Given the description of an element on the screen output the (x, y) to click on. 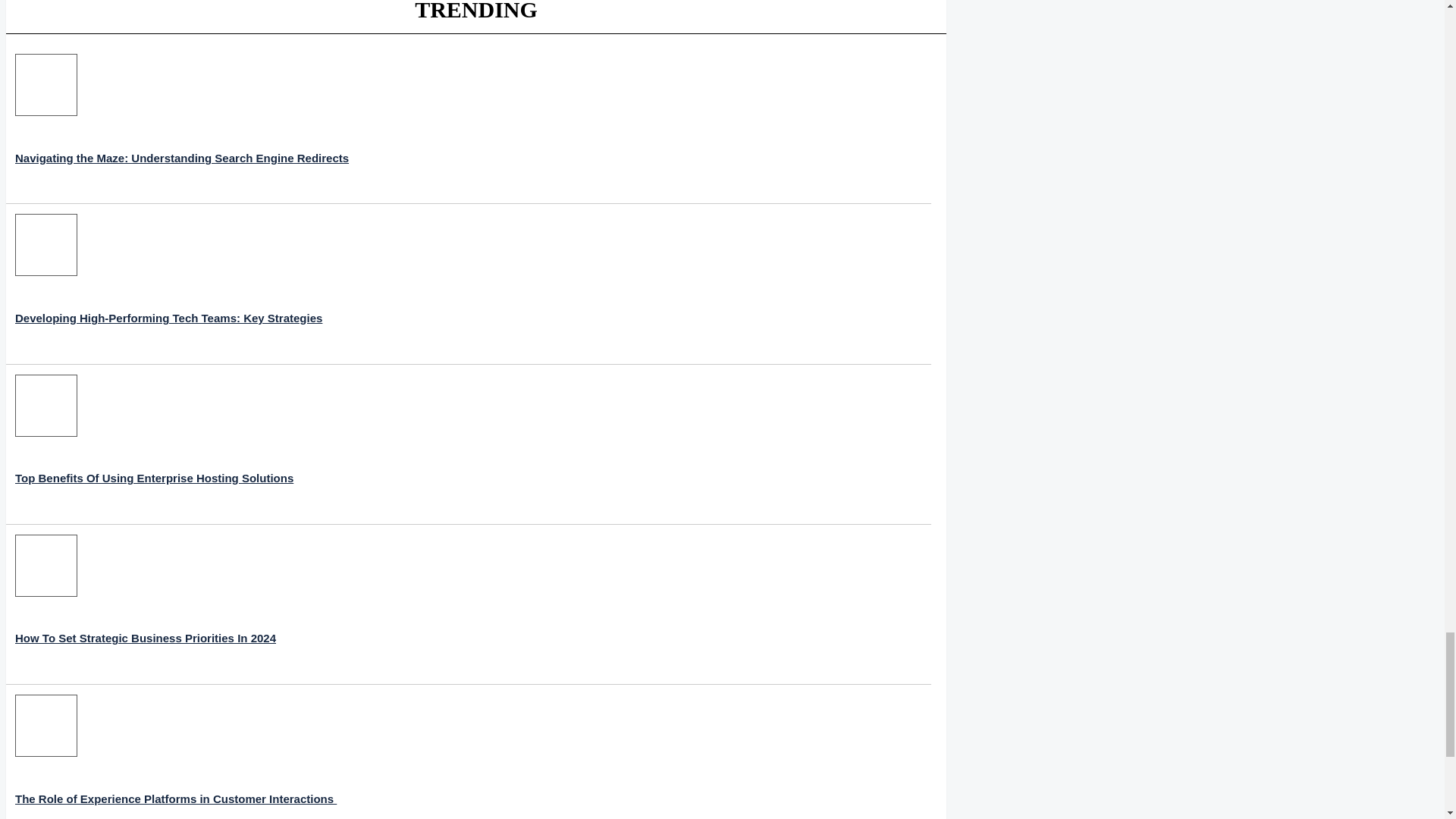
How To Set Strategic Business Priorities In 2024 (145, 604)
Developing High-Performing Tech Teams: Key Strategies (167, 283)
Top Benefits Of Using Enterprise Hosting Solutions (154, 444)
The Role of Experience Platforms in Customer Interactions  (175, 756)
Navigating the Maze: Understanding Search Engine Redirects (181, 124)
